Given the description of an element on the screen output the (x, y) to click on. 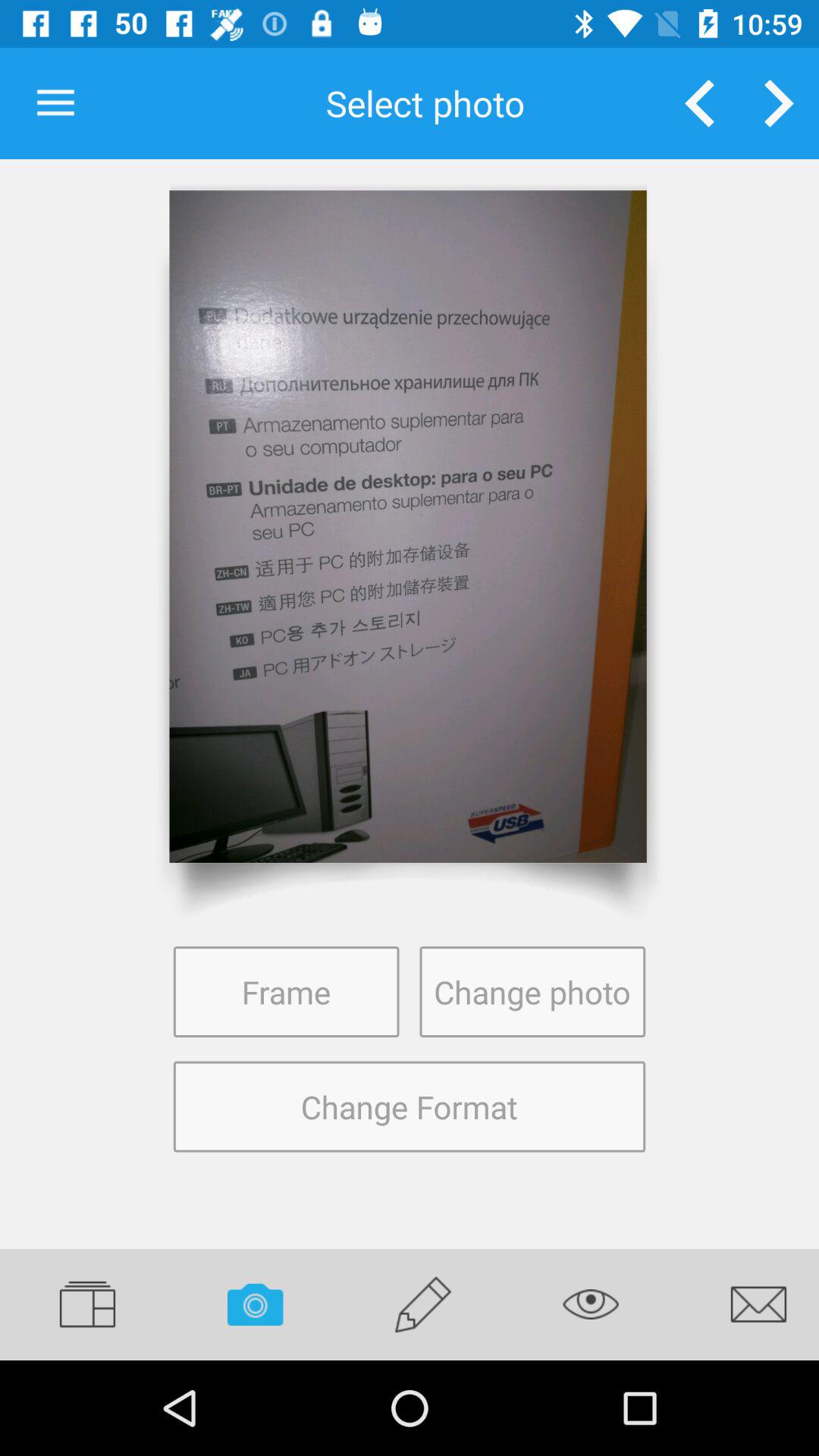
go to website (407, 526)
